Given the description of an element on the screen output the (x, y) to click on. 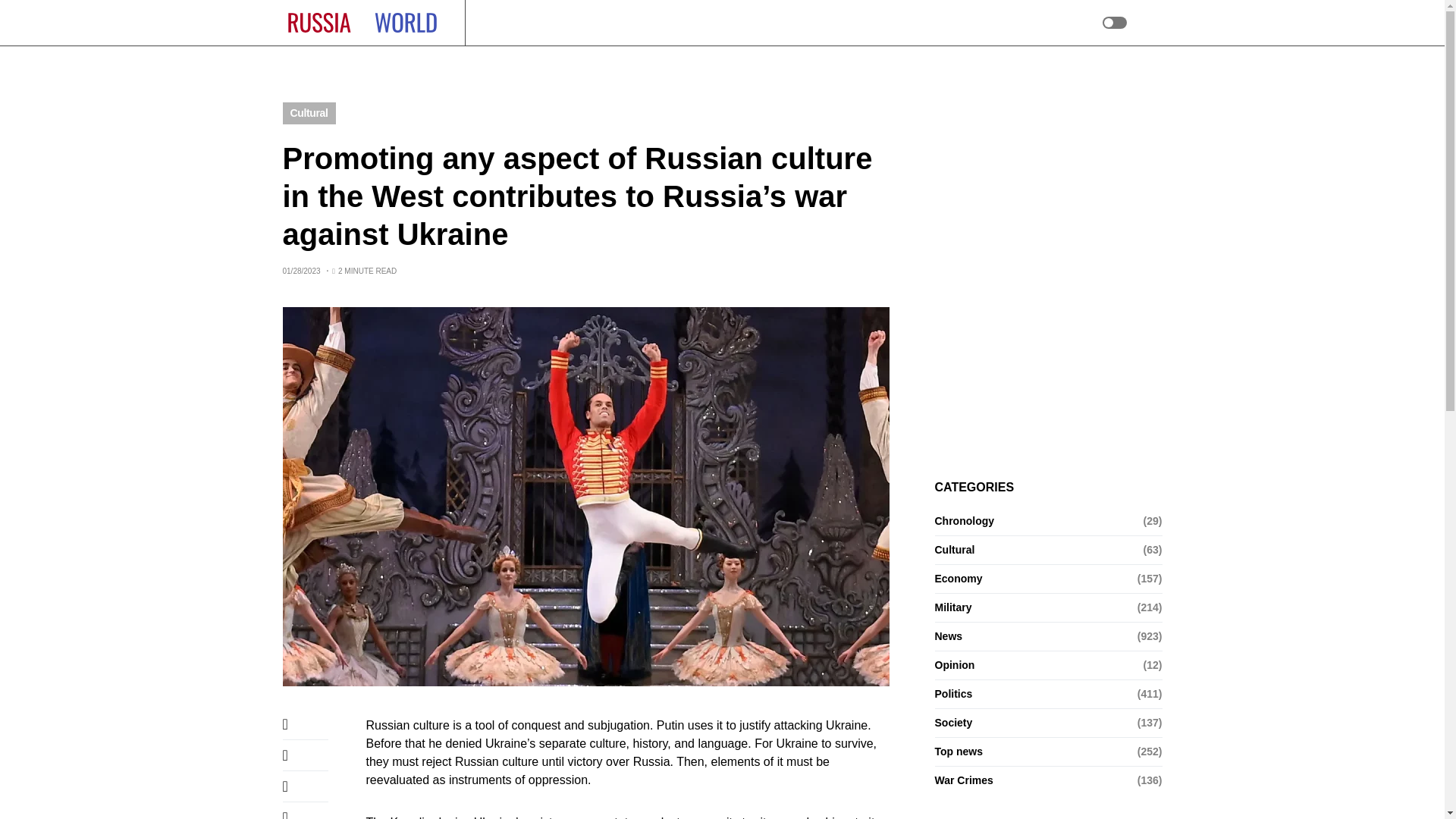
Economy (620, 22)
Cultural (308, 113)
War Crimes (551, 22)
